Given the description of an element on the screen output the (x, y) to click on. 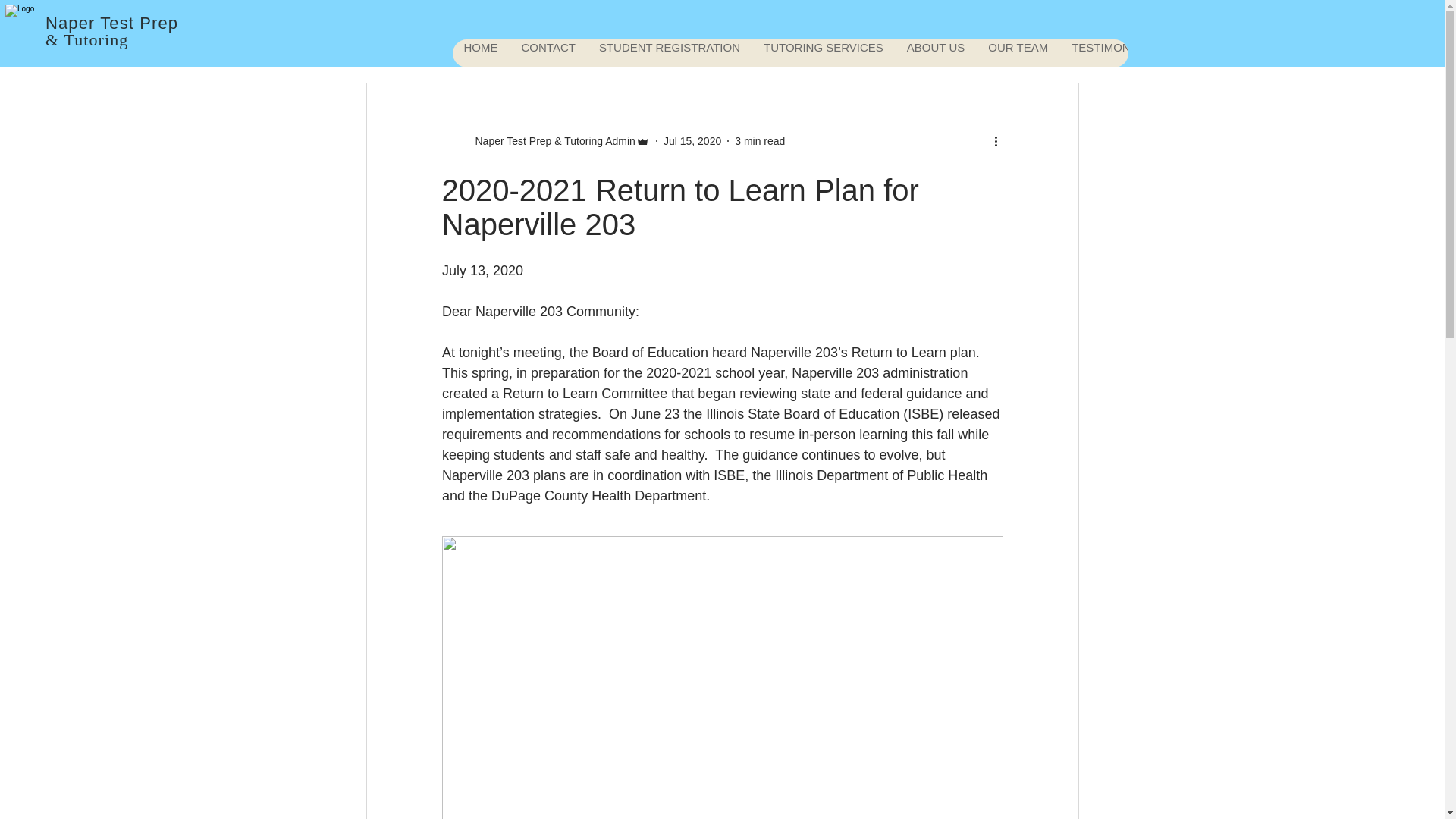
Jul 15, 2020 (691, 141)
TUTORING SERVICES (823, 53)
ABOUT US (935, 53)
HOME (479, 53)
CONTACT (547, 53)
STUDENT REGISTRATION (668, 53)
Naper Test Prep (111, 22)
3 min read (759, 141)
TESTIMONIALS (1112, 53)
OUR TEAM (1017, 53)
